Given the description of an element on the screen output the (x, y) to click on. 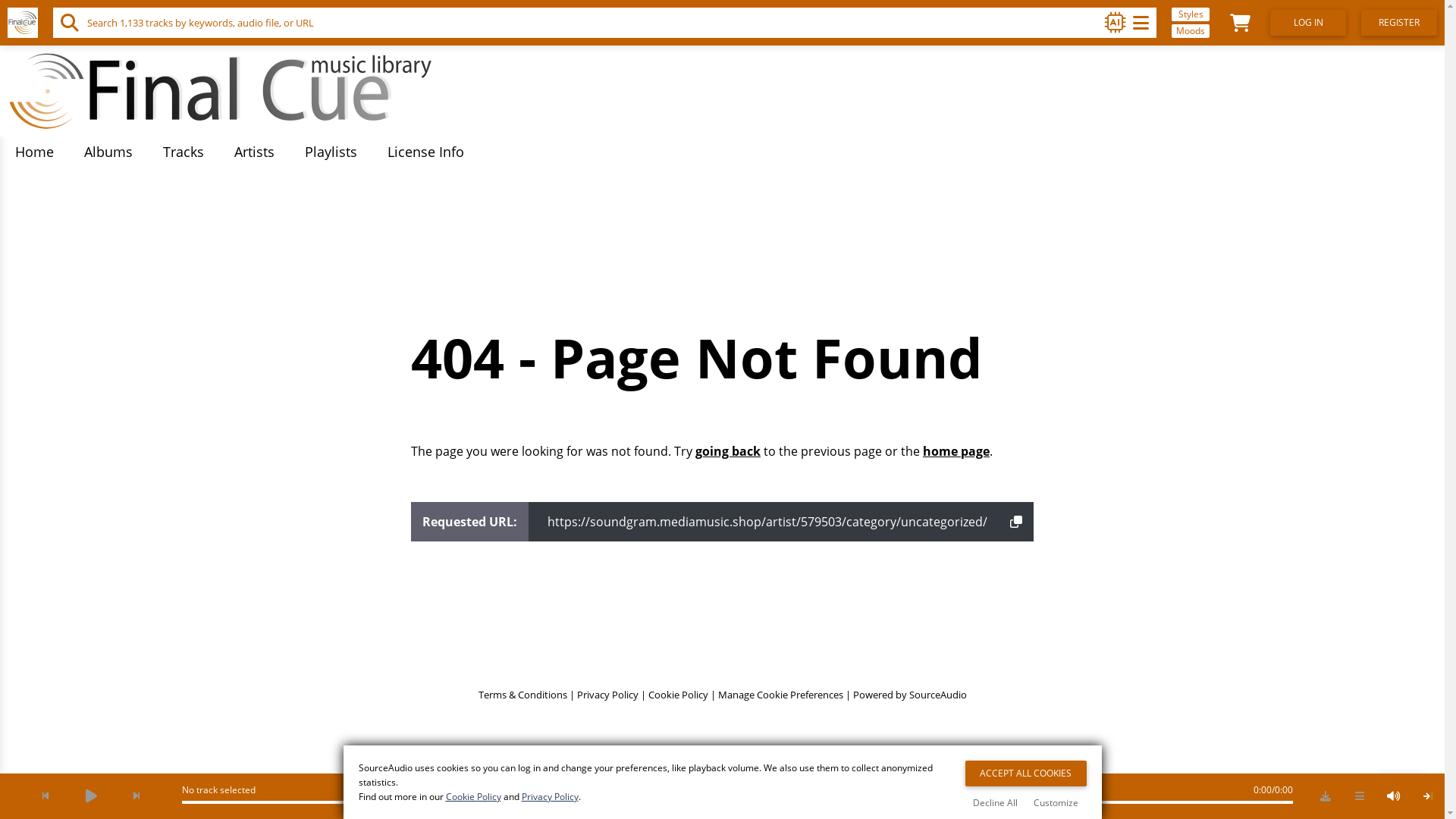
Terms & Conditions Element type: text (521, 693)
Albums Element type: text (108, 151)
REGISTER Element type: text (1399, 22)
License Info Element type: text (425, 151)
ACCEPT ALL COOKIES Element type: text (1024, 773)
LOG IN Element type: text (1308, 22)
Cookie Policy Element type: text (473, 796)
Tracks Element type: text (183, 151)
Manage Cookie Preferences Element type: text (779, 693)
Home Element type: text (34, 151)
Artists Element type: text (254, 151)
SourceAudio Element type: text (937, 693)
home page Element type: text (955, 450)
Styles Element type: text (1190, 14)
Customize Element type: text (1055, 802)
Playlists Element type: text (330, 151)
Moods Element type: text (1190, 30)
Decline All Element type: text (994, 802)
Privacy Policy Element type: text (606, 693)
Cookie Policy Element type: text (677, 693)
going back Element type: text (727, 450)
Privacy Policy Element type: text (549, 796)
AI Mode Element type: hover (1115, 22)
